Given the description of an element on the screen output the (x, y) to click on. 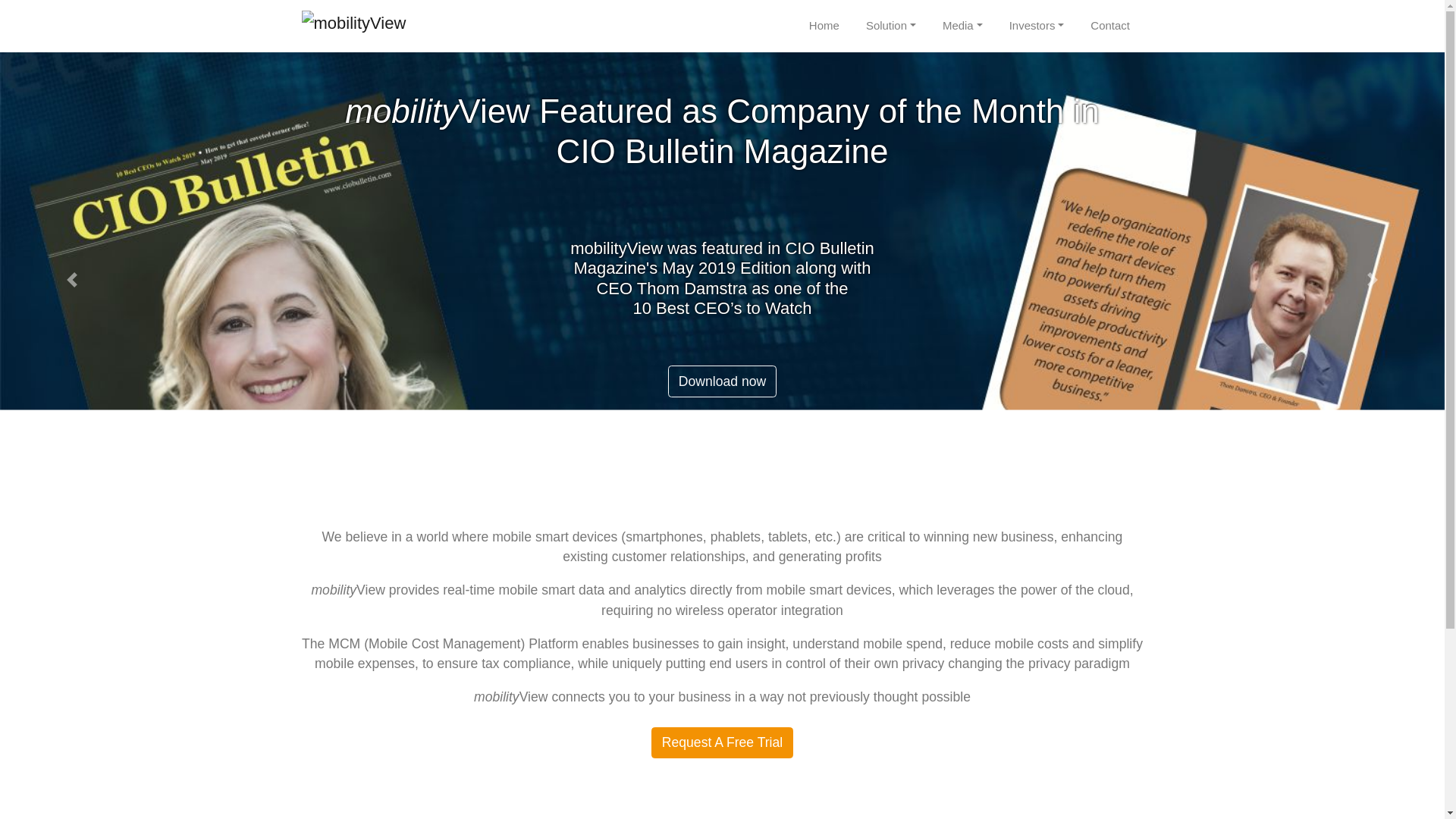
Home (822, 25)
Contact (1109, 25)
Previous (72, 279)
Request A Free Trial (721, 743)
Solution (889, 25)
Investors (1036, 25)
Download now (722, 381)
Media (961, 25)
